Given the description of an element on the screen output the (x, y) to click on. 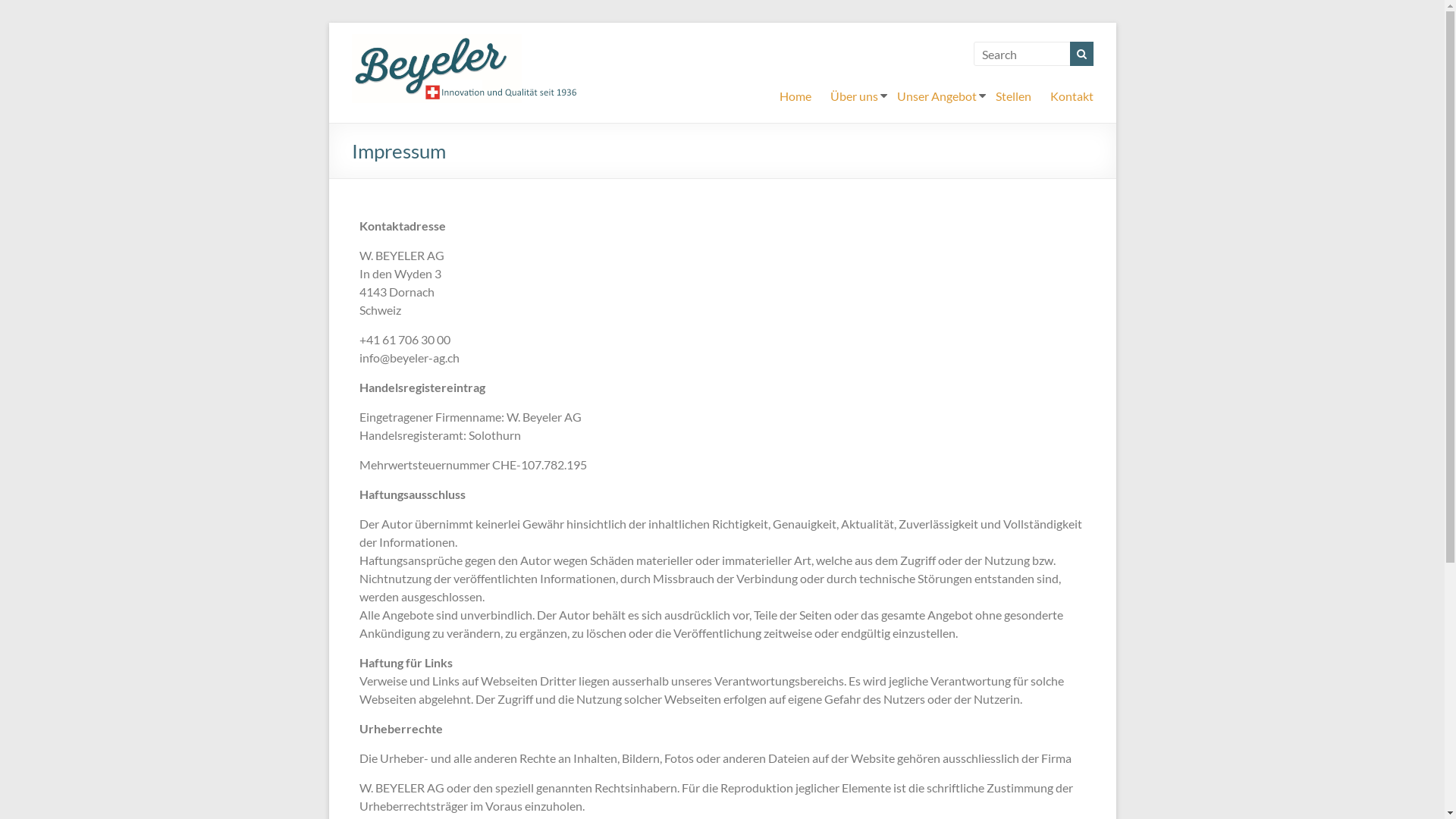
Unser Angebot Element type: text (935, 95)
Home Element type: text (795, 95)
Kontakt Element type: text (1070, 95)
Stellen Element type: text (1012, 95)
